Given the description of an element on the screen output the (x, y) to click on. 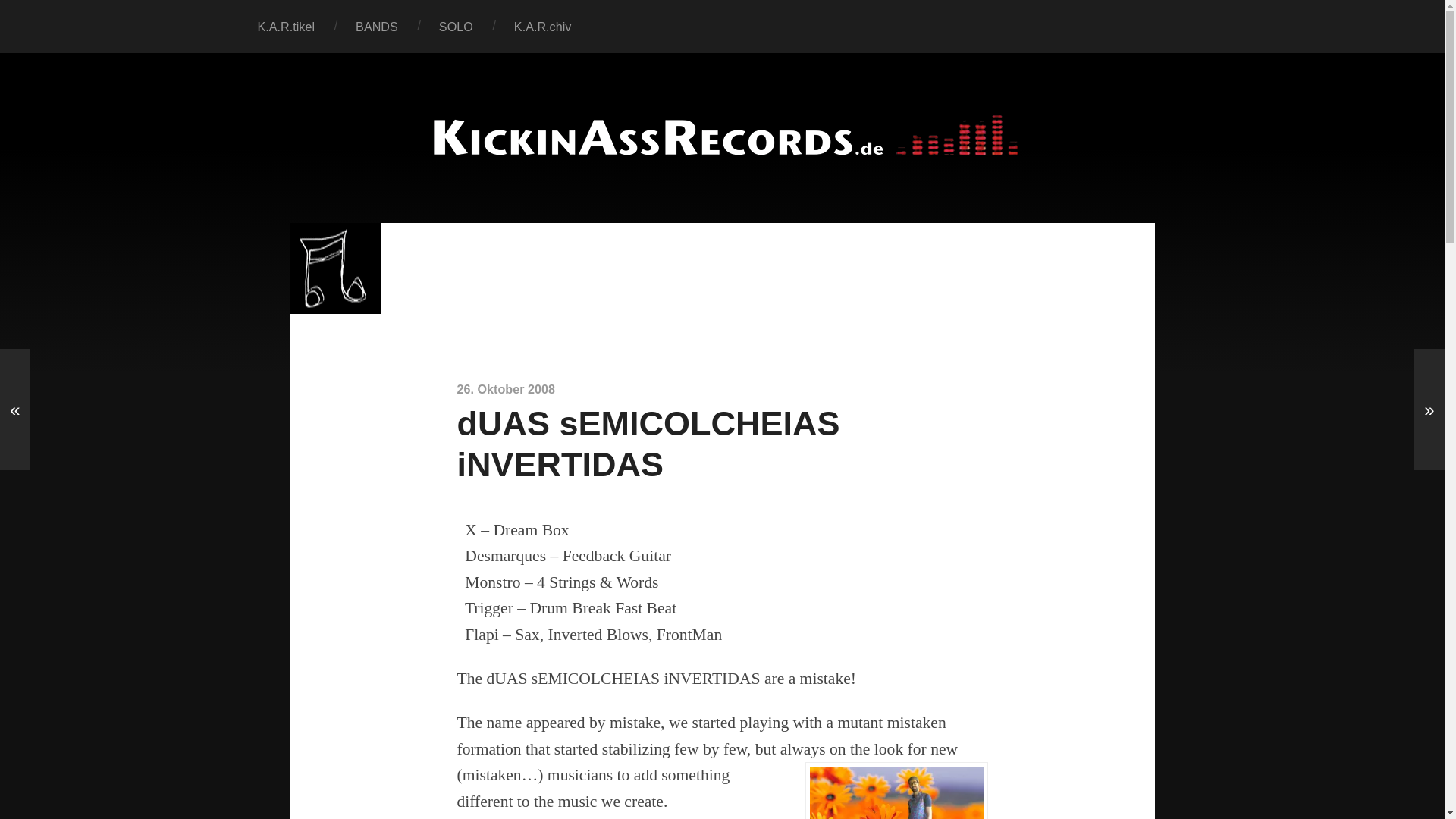
K.A.R.chiv (542, 26)
Previous post: Joe Blob Heimspiel in kirchheim (15, 409)
K.A.R.tikel (284, 26)
BANDS (376, 26)
SOLO (456, 26)
